Given the description of an element on the screen output the (x, y) to click on. 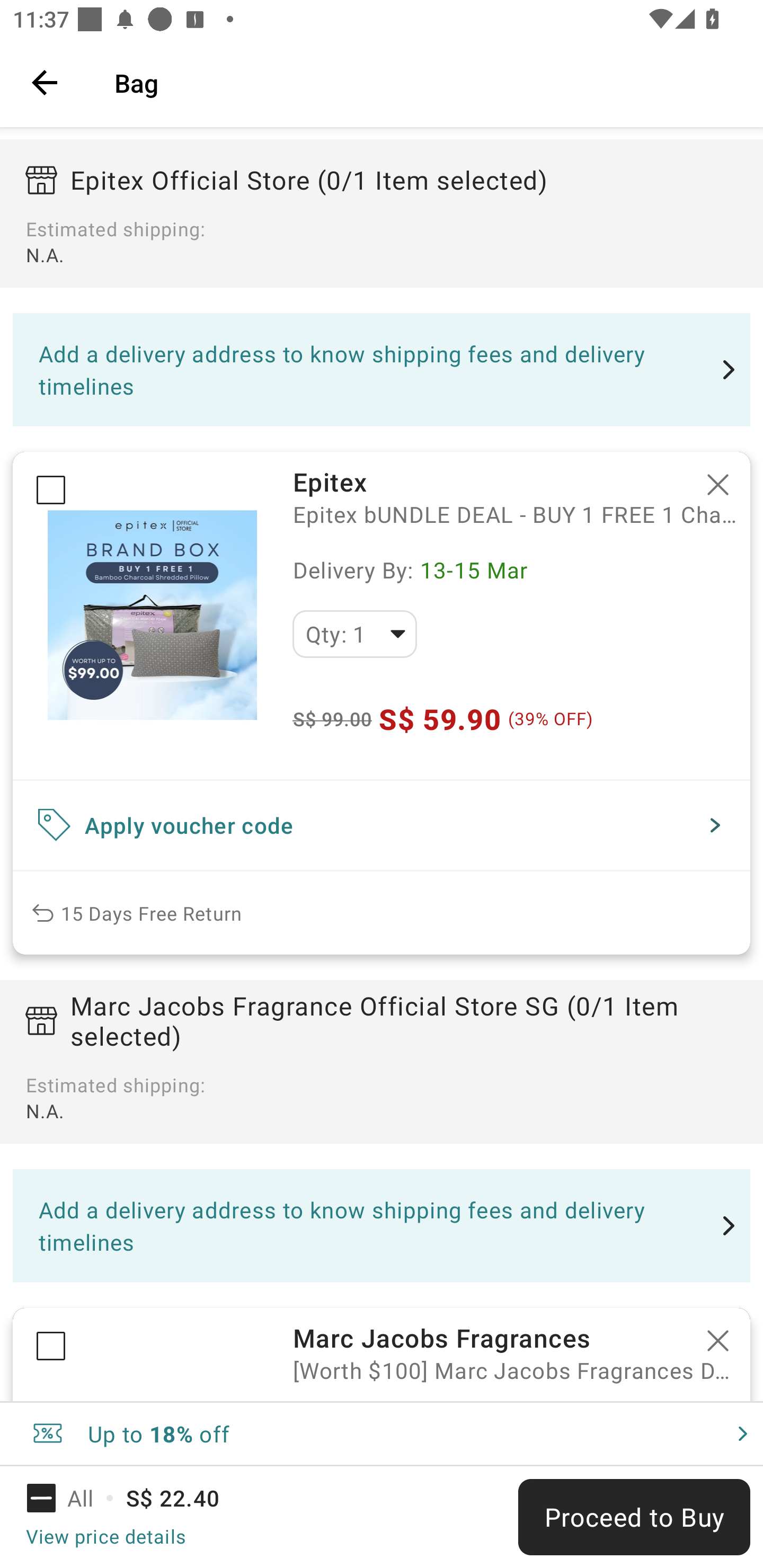
Navigate up (44, 82)
Bag (426, 82)
Qty: 1 (354, 633)
Apply voucher code (381, 825)
Up to 18% off (381, 1433)
All (72, 1497)
Proceed to Buy (634, 1516)
View price details (105, 1535)
